Given the description of an element on the screen output the (x, y) to click on. 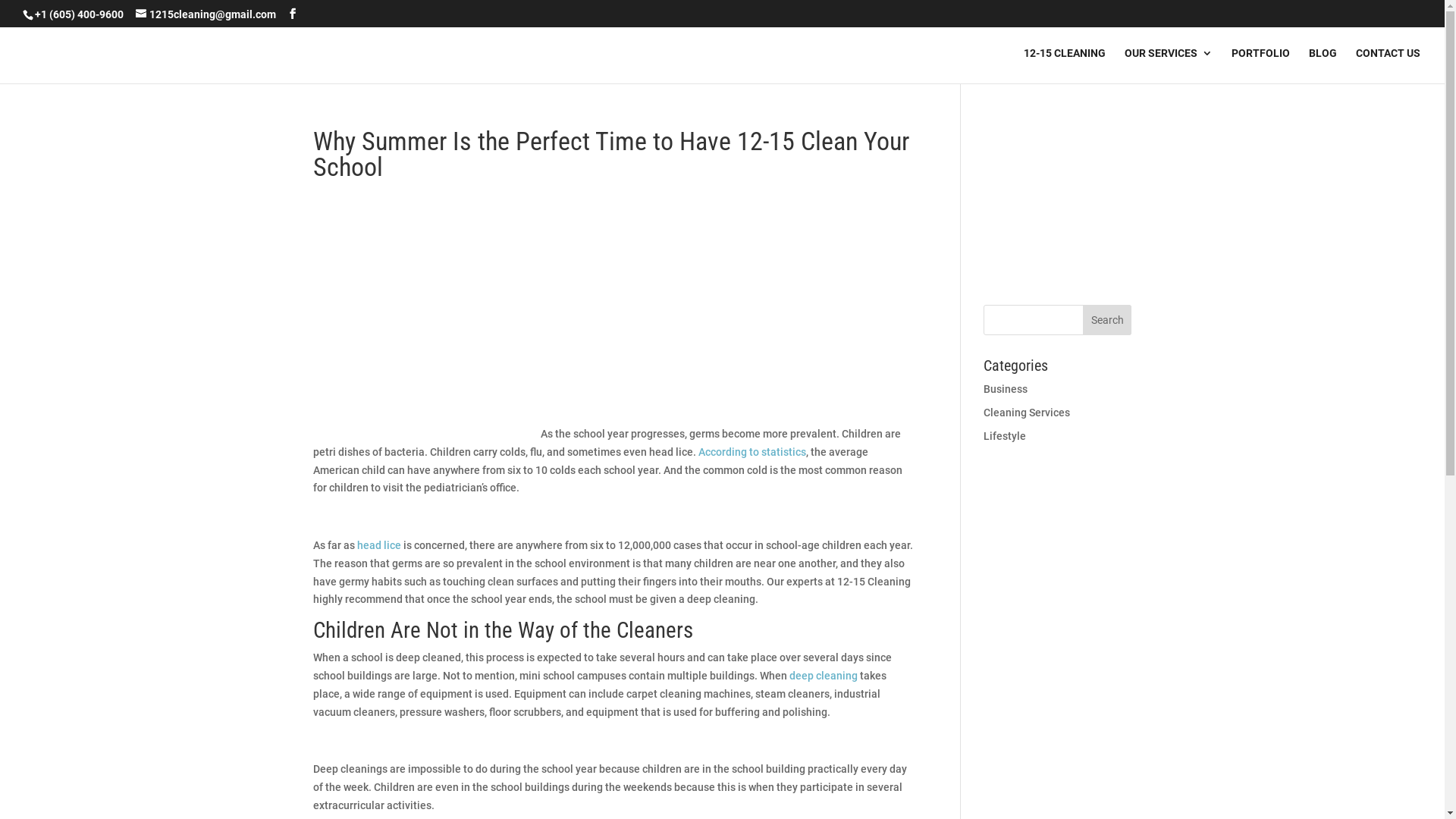
Cleaning Services Element type: text (1026, 412)
head lice Element type: text (378, 545)
Lifestyle Element type: text (1004, 435)
12-15 CLEANING Element type: text (1064, 65)
CONTACT US Element type: text (1387, 65)
BLOG Element type: text (1322, 65)
Business Element type: text (1005, 388)
Search Element type: text (1107, 319)
OUR SERVICES Element type: text (1168, 65)
1215cleaning@gmail.com Element type: text (205, 13)
According to statistics Element type: text (751, 451)
PORTFOLIO Element type: text (1260, 65)
deep cleaning Element type: text (822, 675)
